Given the description of an element on the screen output the (x, y) to click on. 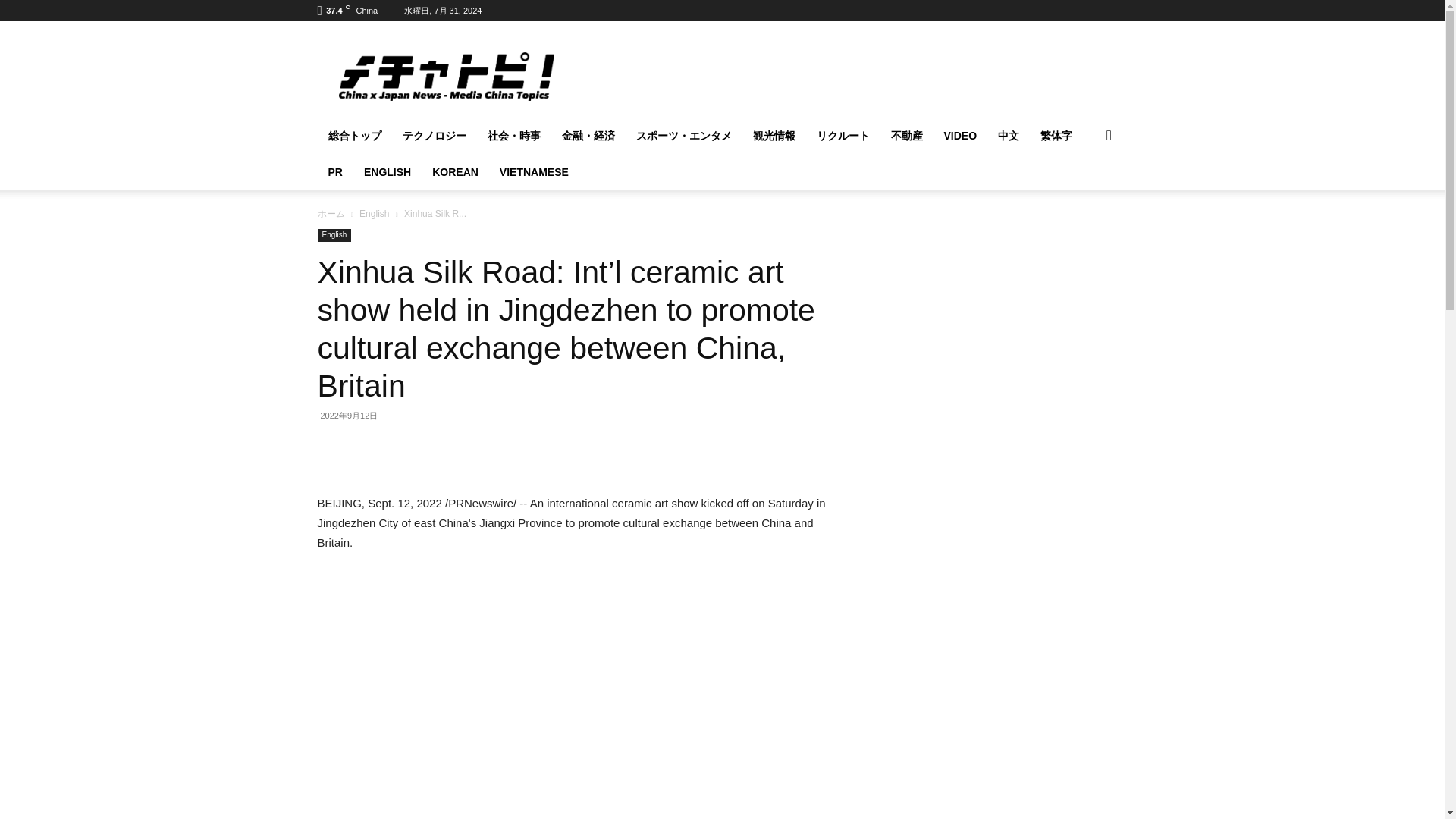
VIETNAMESE (534, 171)
VIDEO (960, 135)
KOREAN (455, 171)
PR (334, 171)
ENGLISH (387, 171)
